Given the description of an element on the screen output the (x, y) to click on. 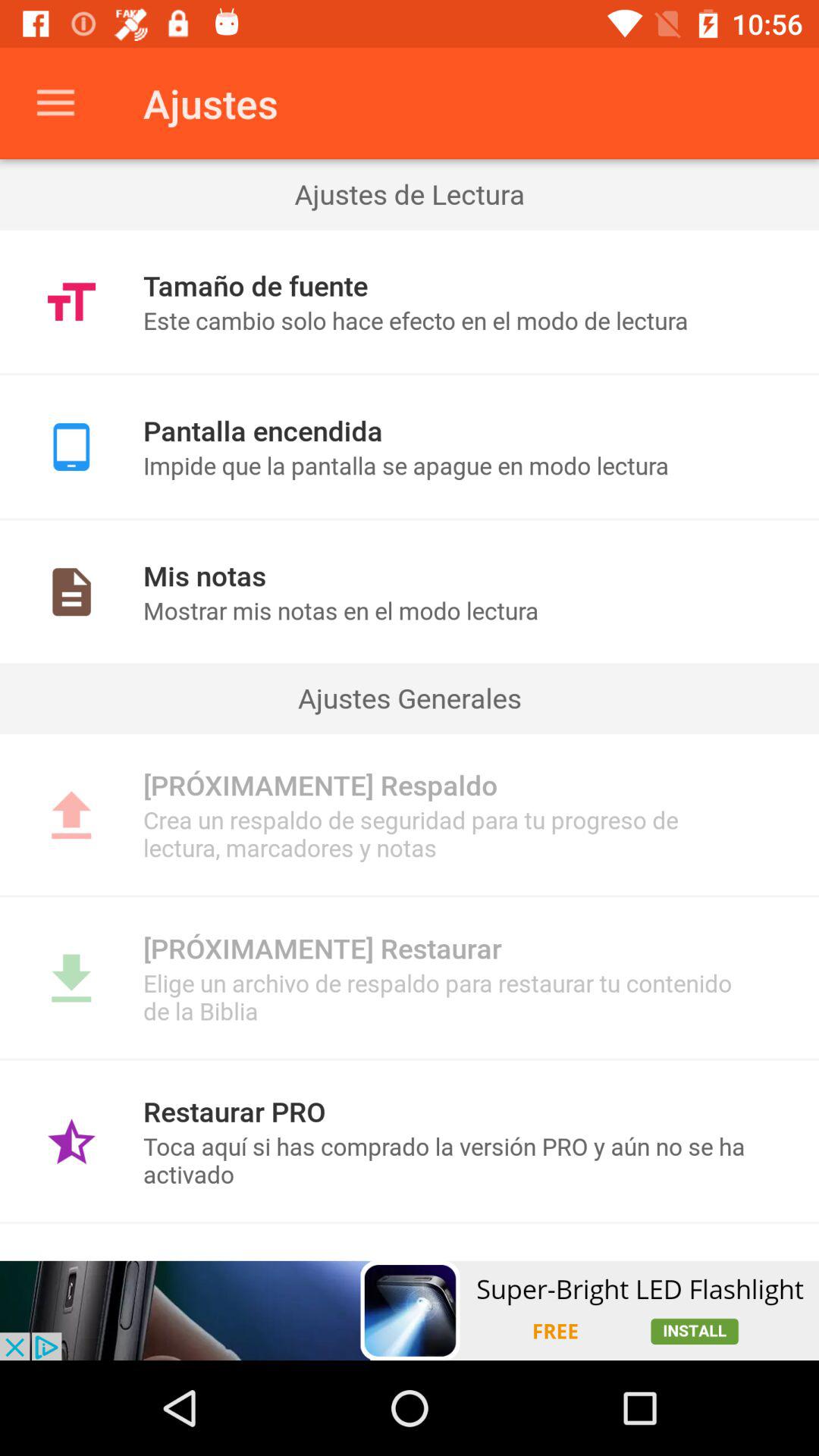
tap icon below elige un archivo icon (409, 1059)
